Given the description of an element on the screen output the (x, y) to click on. 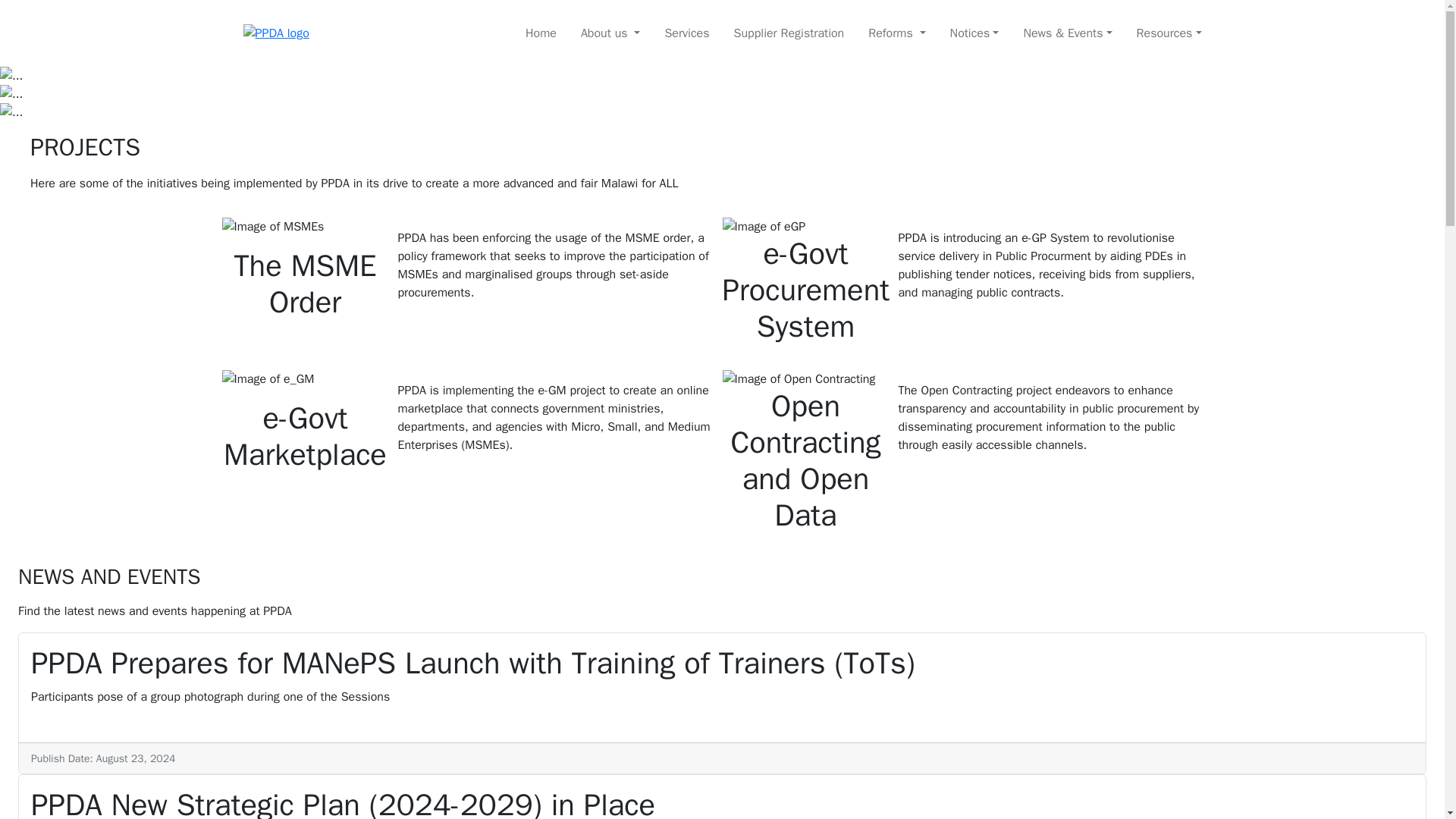
About us (610, 33)
Home (541, 33)
Resources (1169, 33)
Supplier Registration (789, 33)
Services (686, 33)
Reforms (896, 33)
Notices (974, 33)
